Given the description of an element on the screen output the (x, y) to click on. 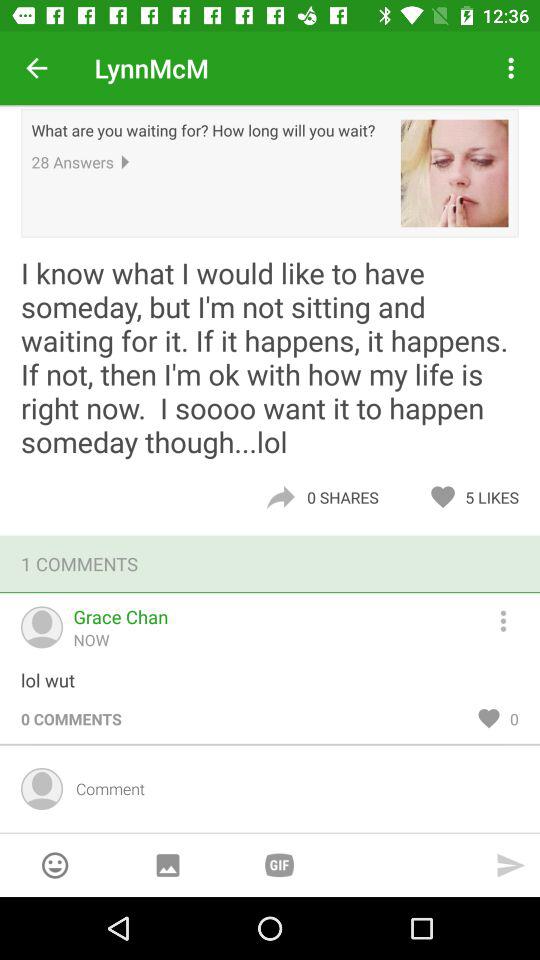
hamburger button (512, 618)
